Given the description of an element on the screen output the (x, y) to click on. 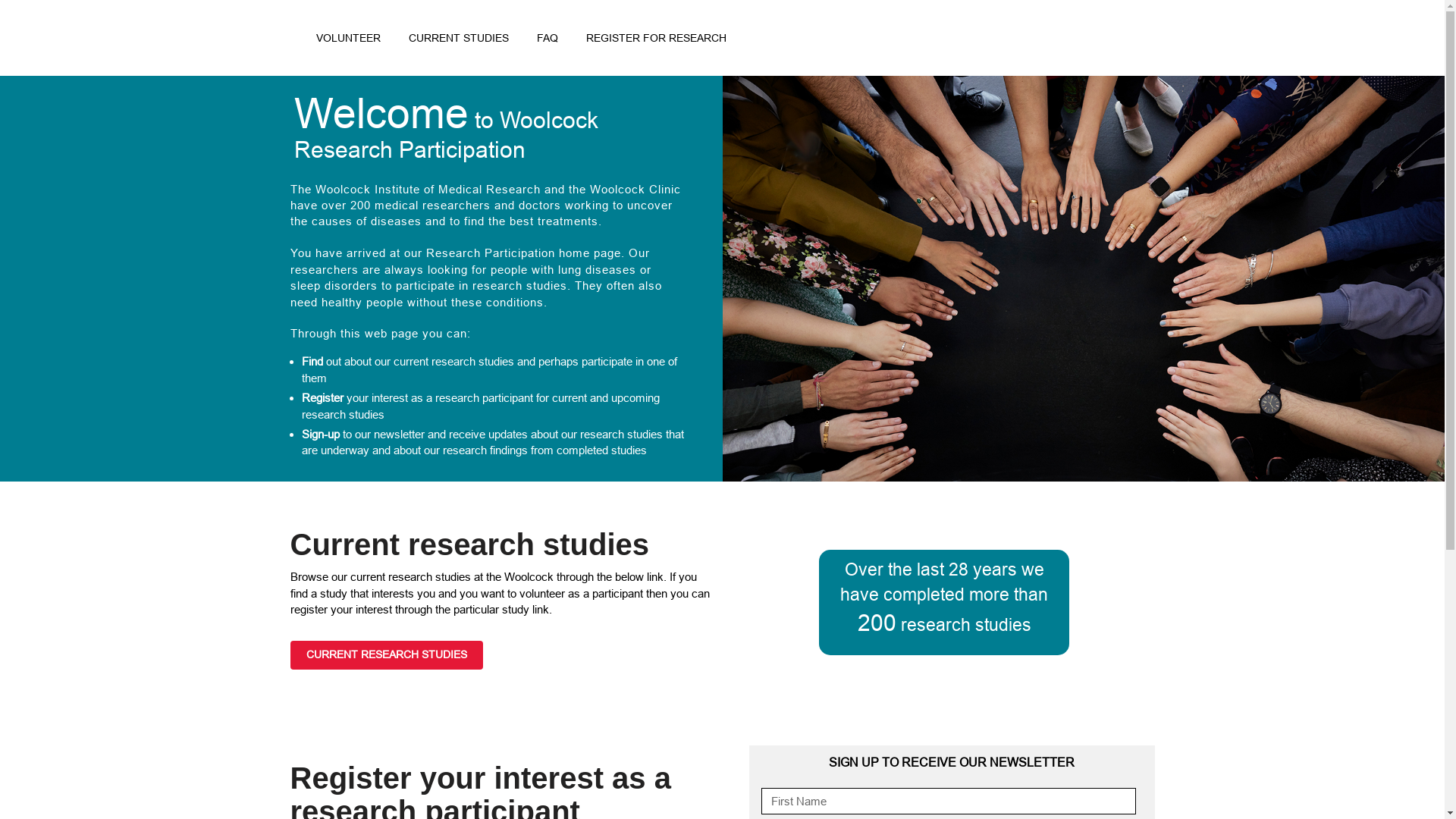
First Name is a required field. Element type: hover (948, 800)
CURRENT STUDIES Element type: text (458, 40)
REGISTER FOR RESEARCH Element type: text (655, 40)
FAQ Element type: text (547, 40)
VOLUNTEER Element type: text (348, 40)
CURRENT RESEARCH STUDIES Element type: text (385, 654)
